Given the description of an element on the screen output the (x, y) to click on. 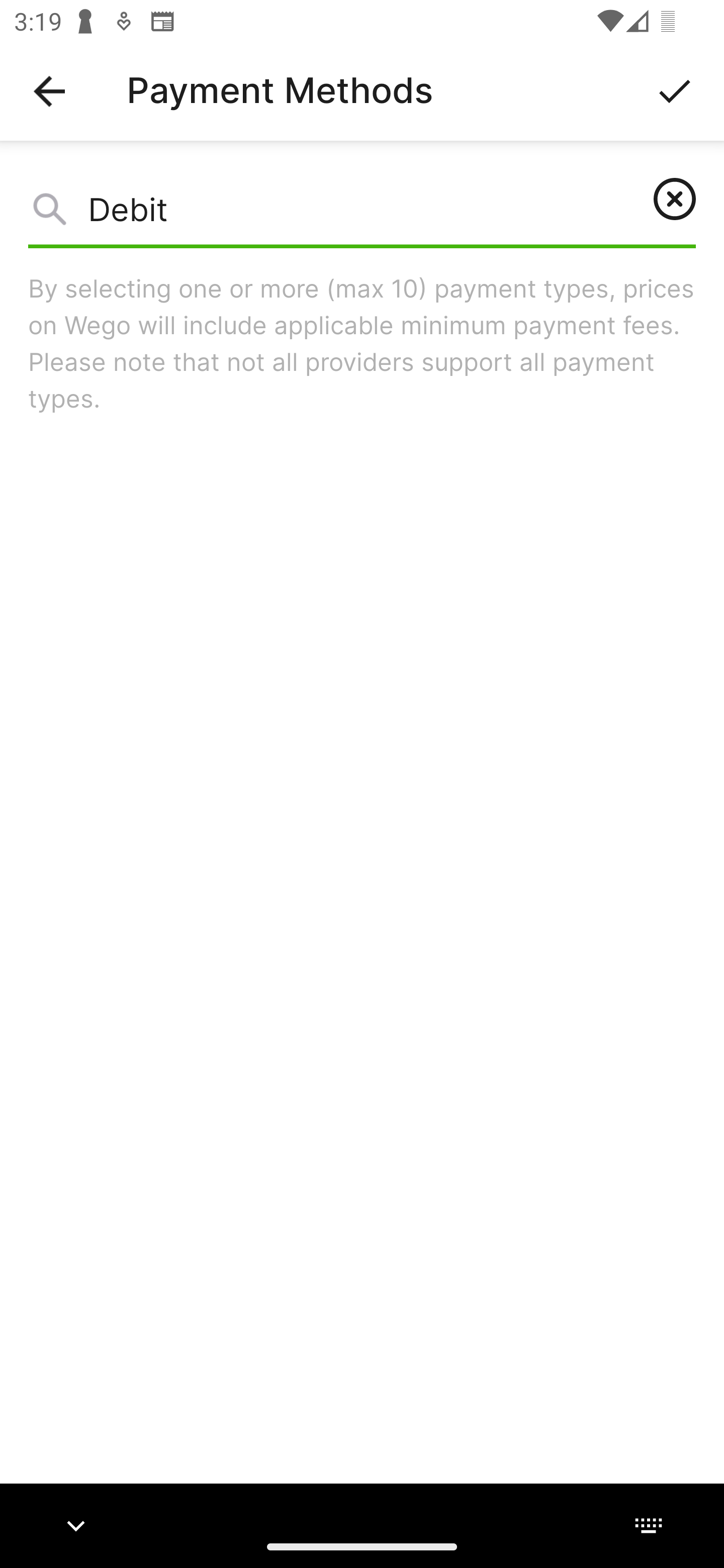
Debit (361, 214)
